Given the description of an element on the screen output the (x, y) to click on. 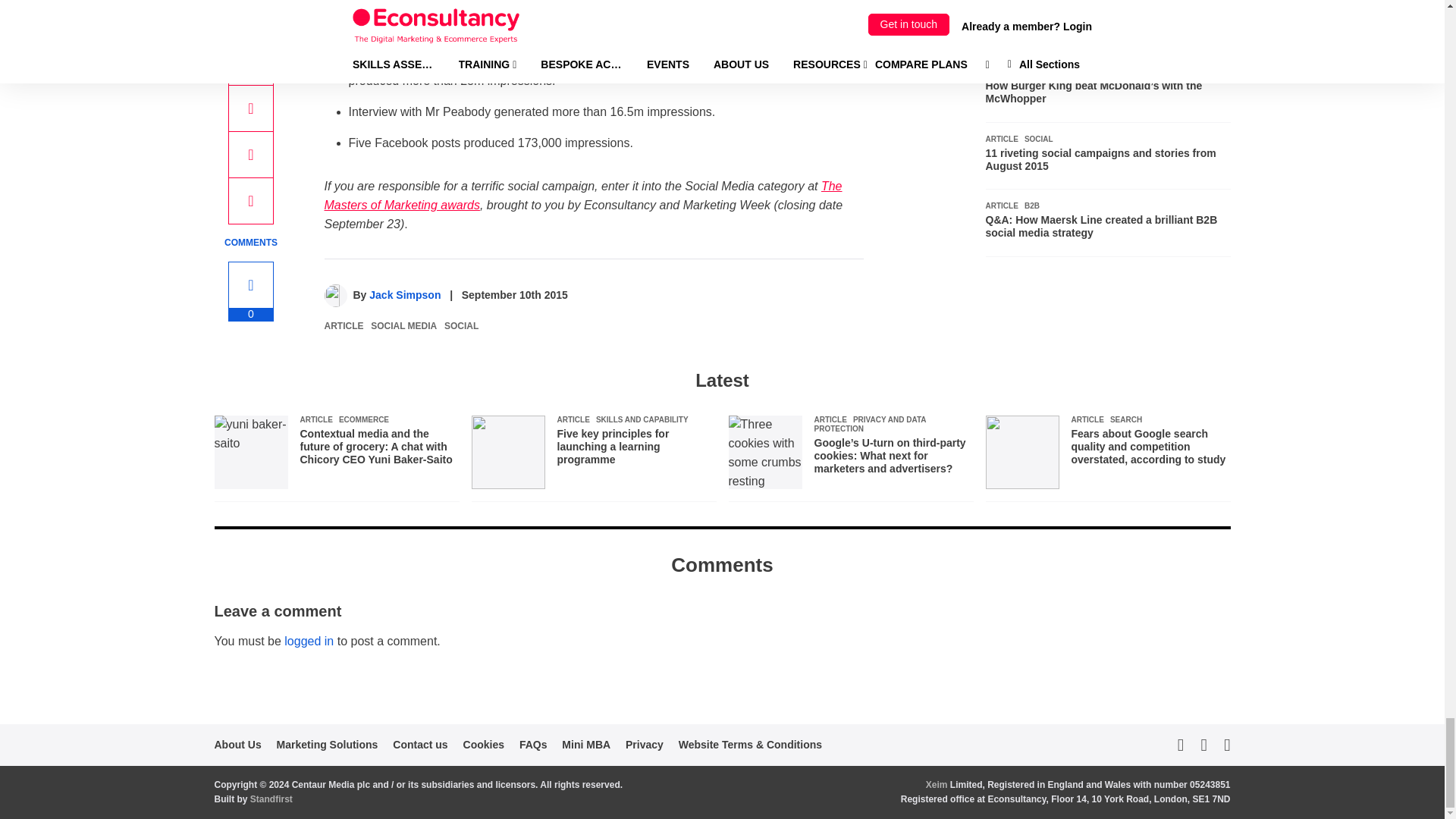
Posts by Jack Simpson (405, 295)
